Given the description of an element on the screen output the (x, y) to click on. 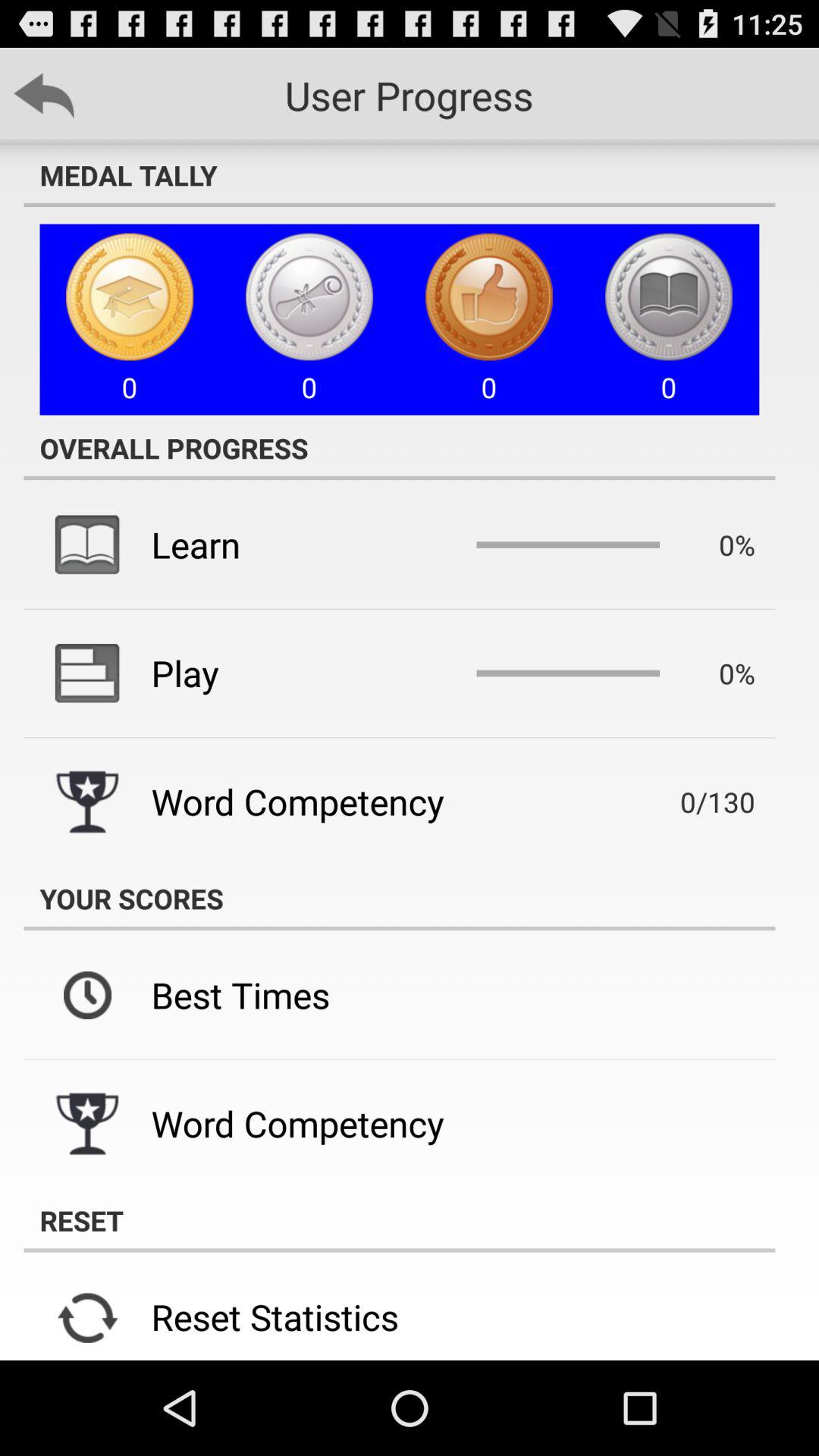
launch item below the overall progress icon (195, 544)
